Given the description of an element on the screen output the (x, y) to click on. 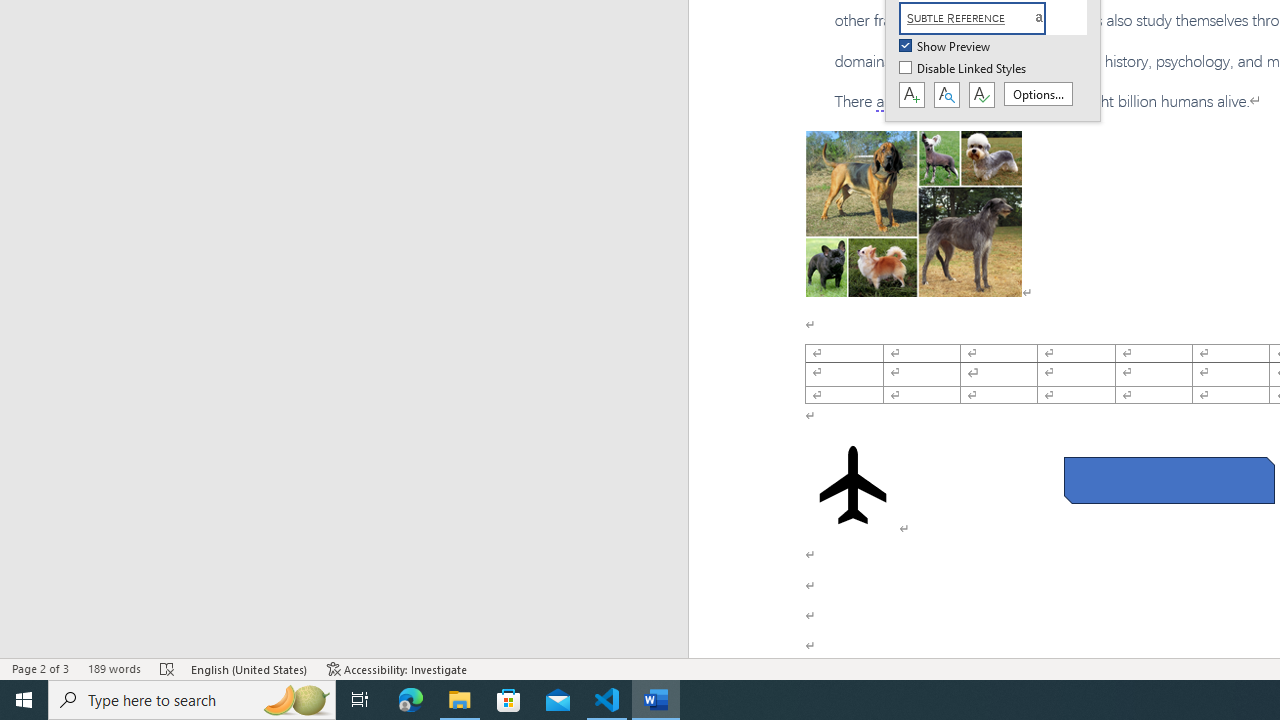
Disable Linked Styles (964, 69)
Page Number Page 2 of 3 (39, 668)
Microsoft Edge (411, 699)
